Given the description of an element on the screen output the (x, y) to click on. 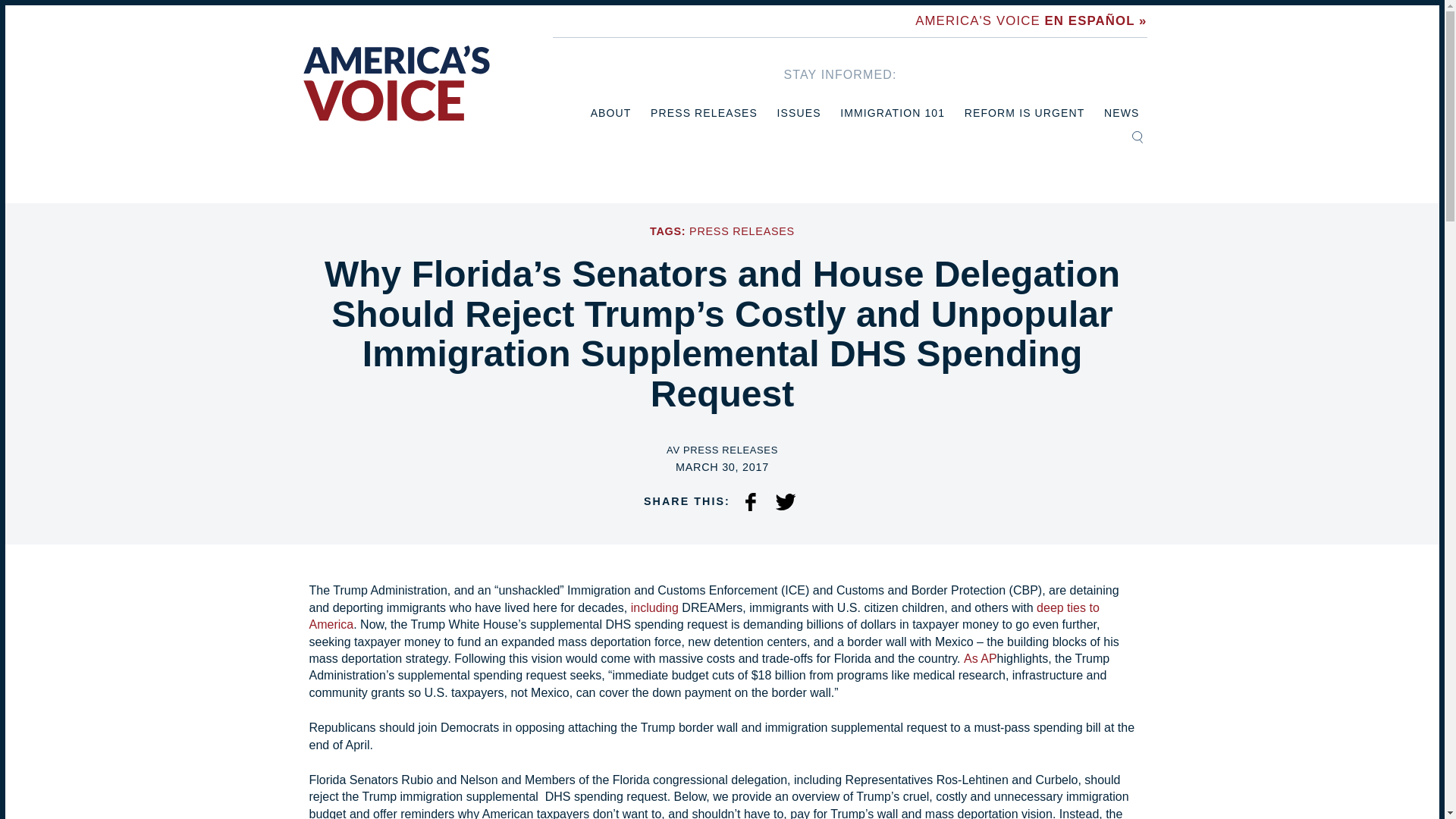
ISSUES (799, 112)
deep ties to America (703, 615)
ABOUT (611, 112)
REFORM IS URGENT (1023, 112)
including (656, 607)
Show Search (1137, 135)
As AP (980, 658)
NEWS (1120, 112)
PRESS RELEASES (741, 231)
PRESS RELEASES (703, 112)
